Given the description of an element on the screen output the (x, y) to click on. 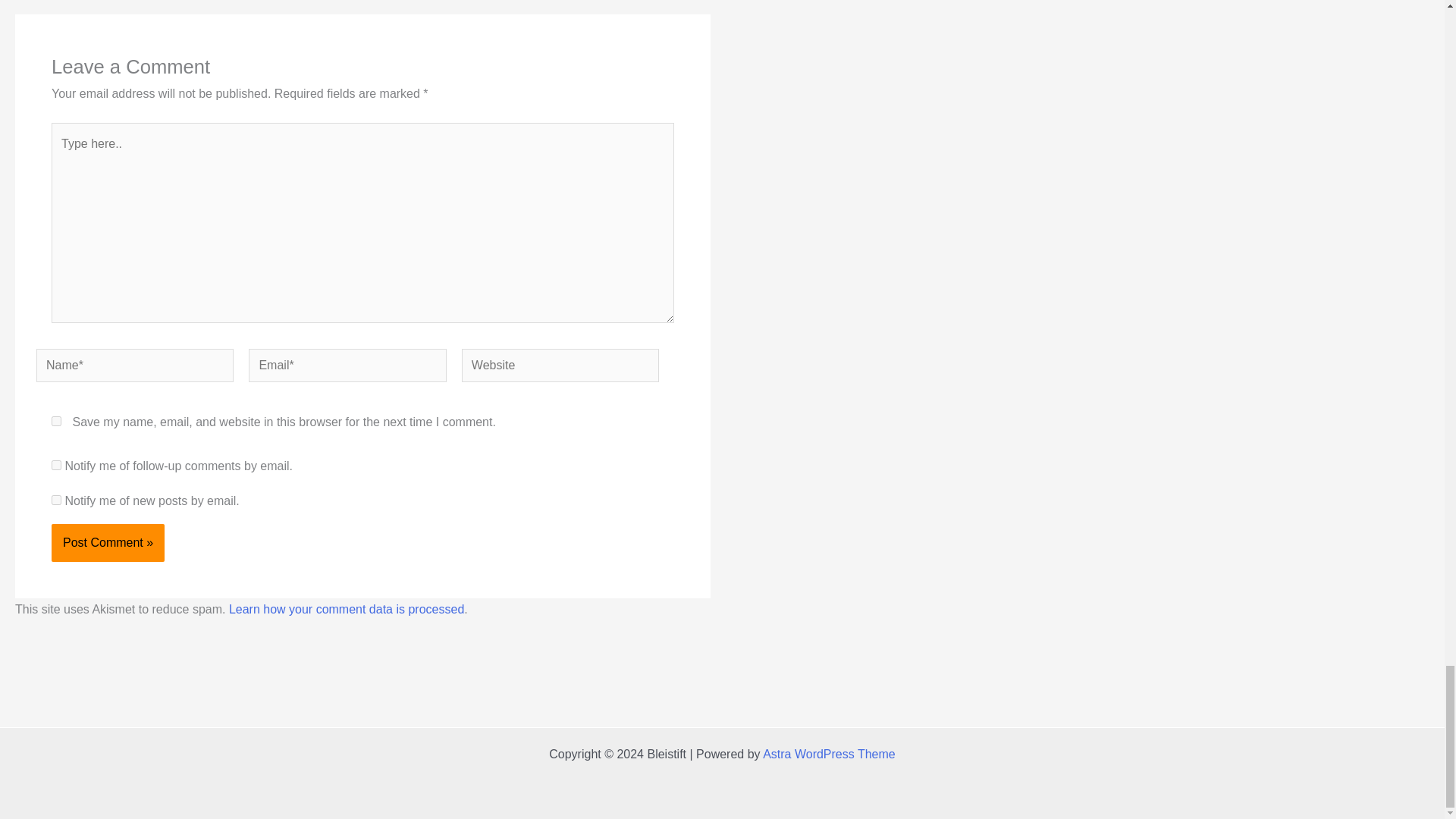
subscribe (55, 500)
yes (55, 420)
subscribe (55, 465)
